Given the description of an element on the screen output the (x, y) to click on. 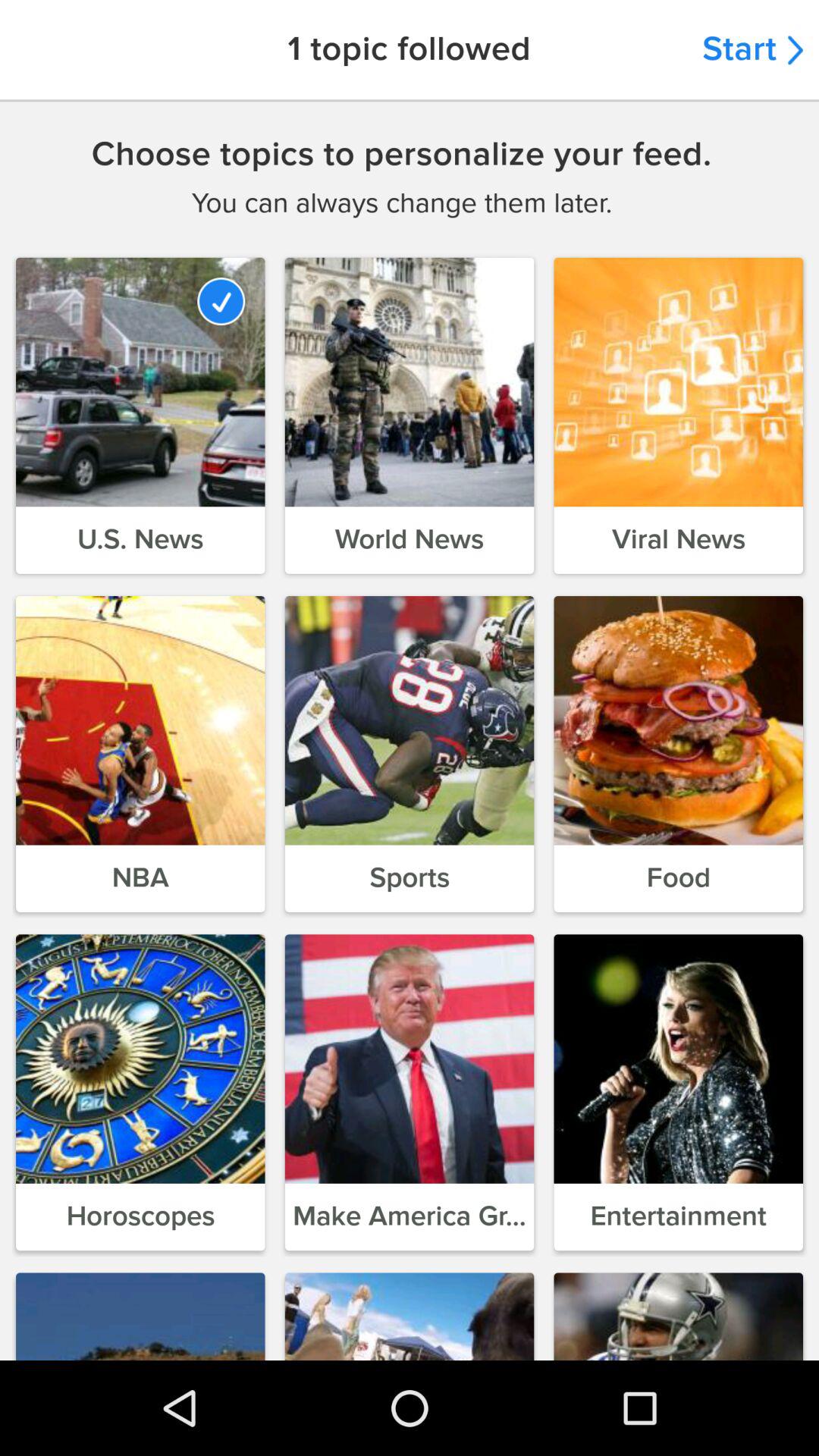
choose start icon (752, 49)
